Given the description of an element on the screen output the (x, y) to click on. 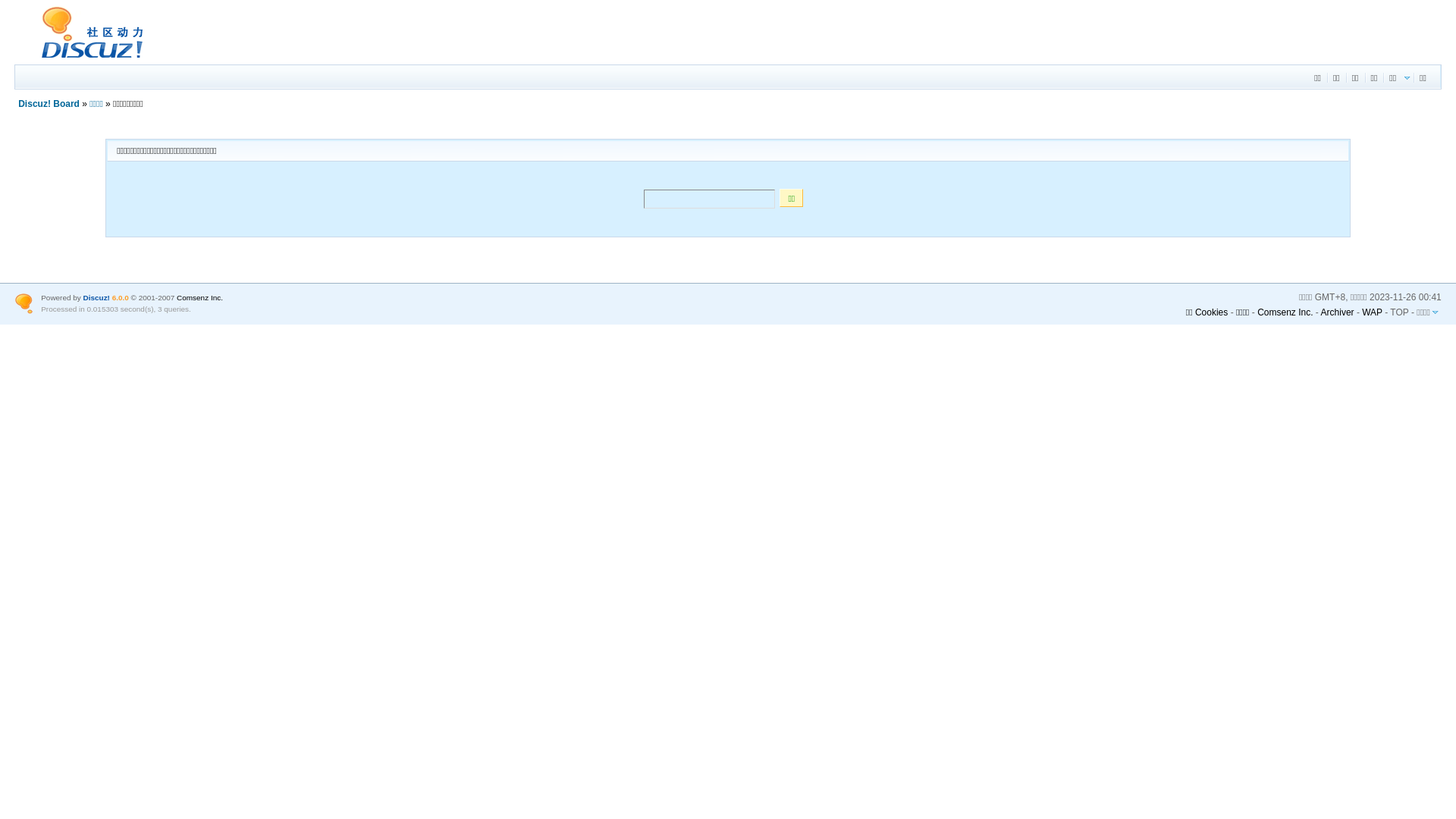
WAP Element type: text (1371, 312)
Discuz! Board Element type: text (48, 103)
Discuz! Element type: text (96, 297)
TOP Element type: text (1399, 312)
Discuz! Board Element type: hover (85, 57)
Comsenz Inc. Element type: text (199, 297)
Comsenz Inc. Element type: text (1284, 312)
Archiver Element type: text (1337, 312)
